Given the description of an element on the screen output the (x, y) to click on. 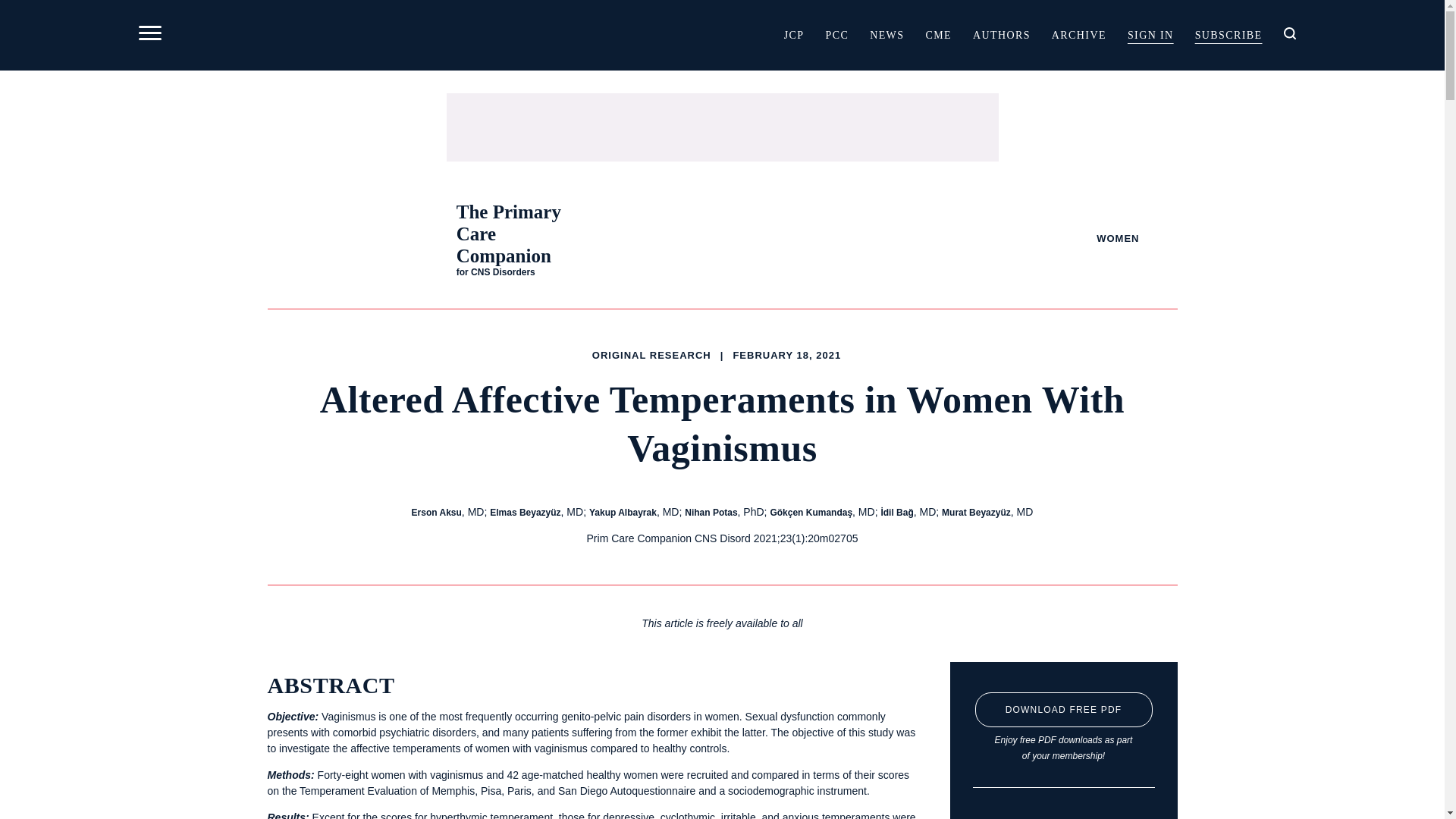
SUBSCRIBE (1228, 34)
SIGN IN (1150, 34)
AUTHORS (1001, 34)
Search (959, 128)
JCP (794, 34)
CME (938, 34)
Site Search (1288, 33)
ARCHIVE (1078, 34)
NEWS (886, 34)
PCC (836, 34)
